Given the description of an element on the screen output the (x, y) to click on. 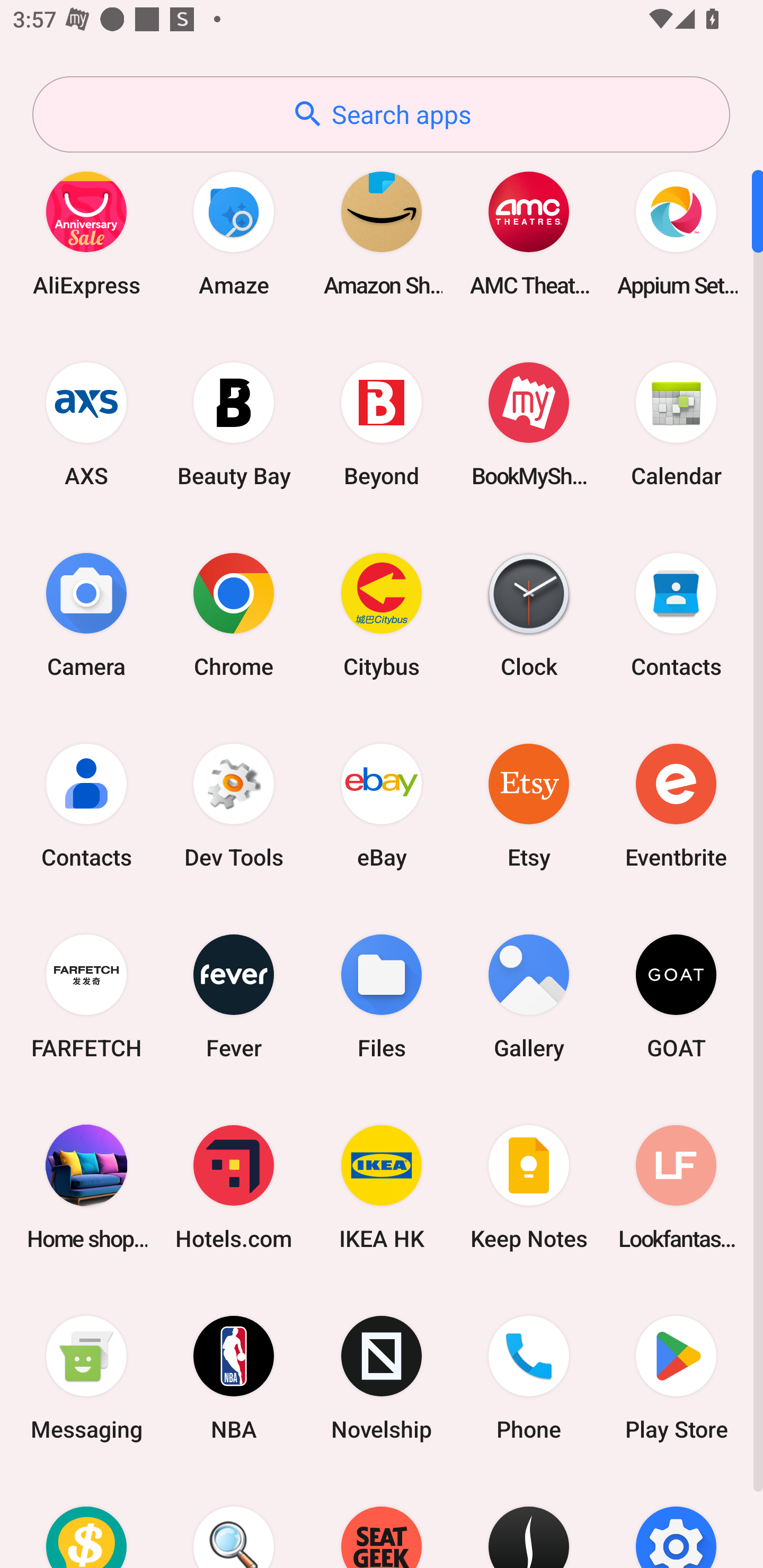
  Search apps (381, 114)
AliExpress (86, 233)
Amaze (233, 233)
Amazon Shopping (381, 233)
AMC Theatres (528, 233)
Appium Settings (676, 233)
AXS (86, 424)
Beauty Bay (233, 424)
Beyond (381, 424)
BookMyShow (528, 424)
Calendar (676, 424)
Camera (86, 614)
Chrome (233, 614)
Citybus (381, 614)
Clock (528, 614)
Contacts (676, 614)
Contacts (86, 805)
Dev Tools (233, 805)
eBay (381, 805)
Etsy (528, 805)
Eventbrite (676, 805)
FARFETCH (86, 996)
Fever (233, 996)
Files (381, 996)
Gallery (528, 996)
GOAT (676, 996)
Home shopping (86, 1186)
Hotels.com (233, 1186)
IKEA HK (381, 1186)
Keep Notes (528, 1186)
Lookfantastic (676, 1186)
Messaging (86, 1377)
NBA (233, 1377)
Novelship (381, 1377)
Phone (528, 1377)
Play Store (676, 1377)
Price (86, 1520)
Search (233, 1520)
SeatGeek (381, 1520)
Sephora (528, 1520)
Settings (676, 1520)
